Given the description of an element on the screen output the (x, y) to click on. 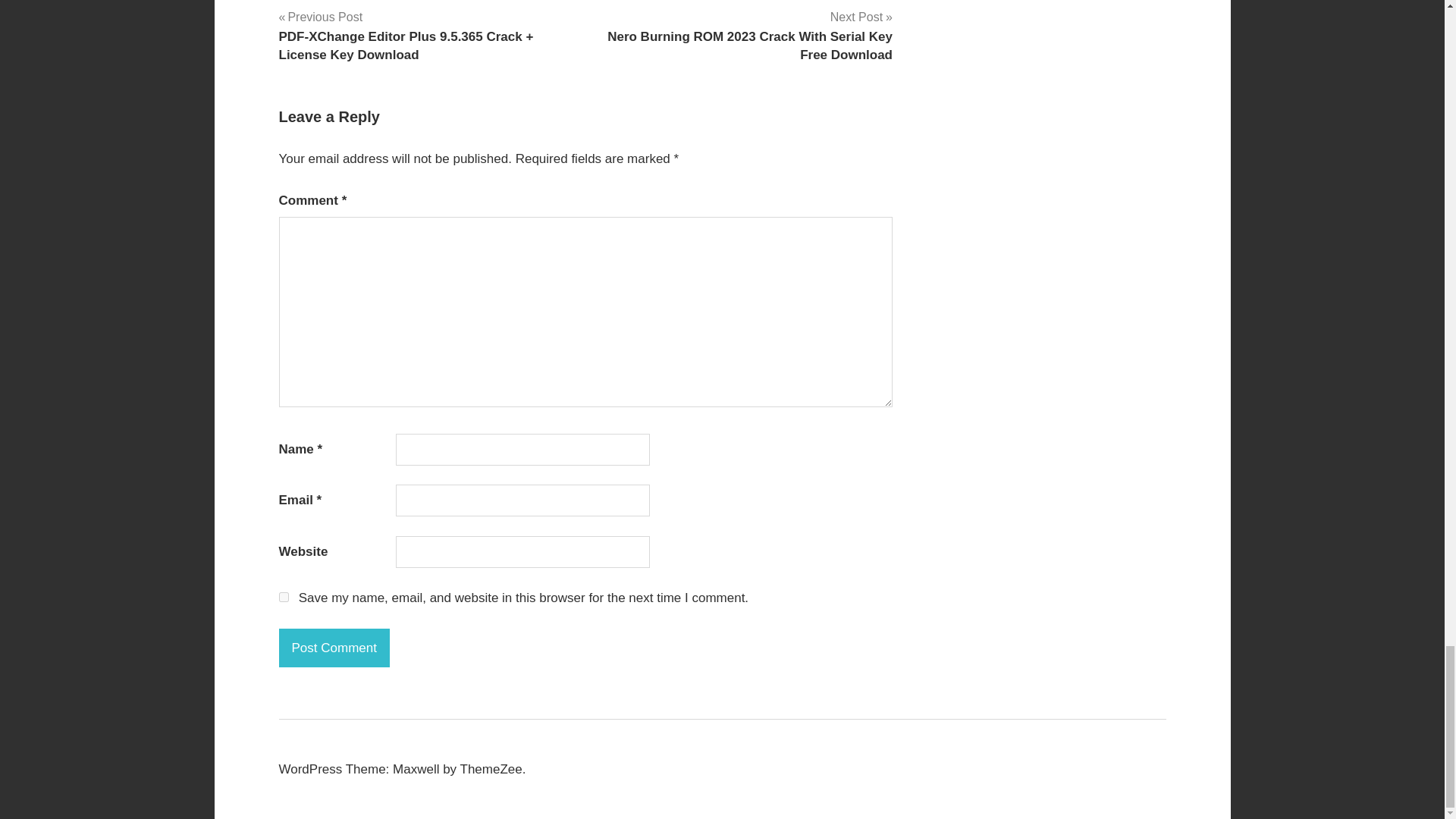
Post Comment (334, 647)
yes (283, 596)
